Given the description of an element on the screen output the (x, y) to click on. 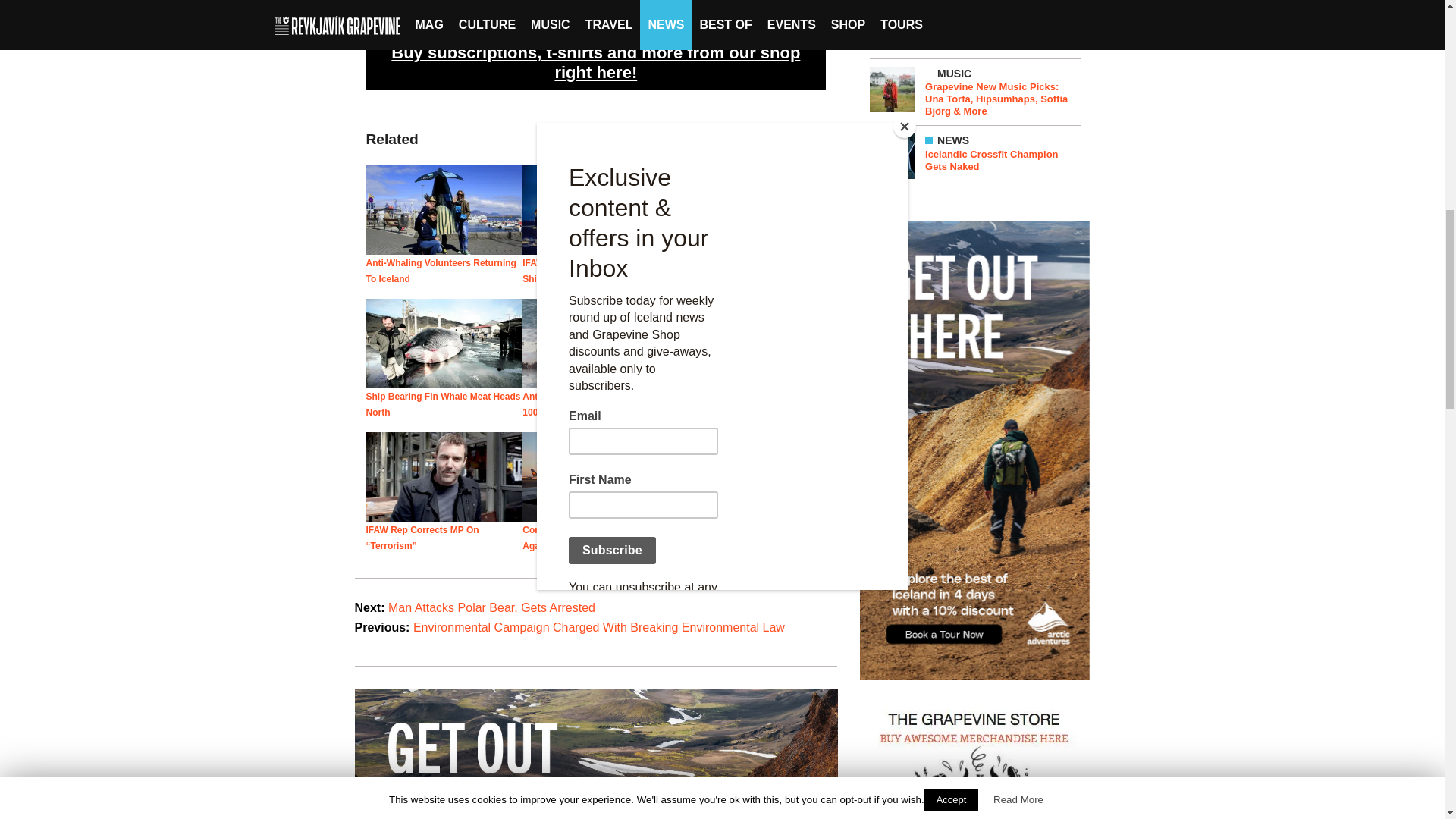
Anti-Whaling Volunteers Returning To Iceland (443, 209)
Ship Bearing Fin Whale Meat Heads North (443, 343)
Anti-Whaling Petition Crosses 100,000 Mark (600, 343)
Anti-Whaling Volunteers Returning To Iceland (440, 270)
IFAW Objects To Fin Whale Meat Shipment (600, 209)
Anti-Whaling Campaign Features Prominent Icelanders (757, 343)
Ship Bearing Fin Whale Meat Heads North (442, 404)
Ship Bearing Fin Whale Meat Leaves Icelandic Harbour (742, 270)
Ship Bearing Fin Whale Meat Leaves Icelandic Harbour (757, 209)
Anti-Whaling Petition Crosses 100,000 Mark (587, 404)
IFAW Objects To Fin Whale Meat Shipment (592, 270)
Ship Bearing Fin Whale Meat Heads North (442, 404)
Ship Bearing Fin Whale Meat Leaves Icelandic Harbour (742, 270)
Anti-Whaling Petition Crosses 100,000 Mark (587, 404)
